Given the description of an element on the screen output the (x, y) to click on. 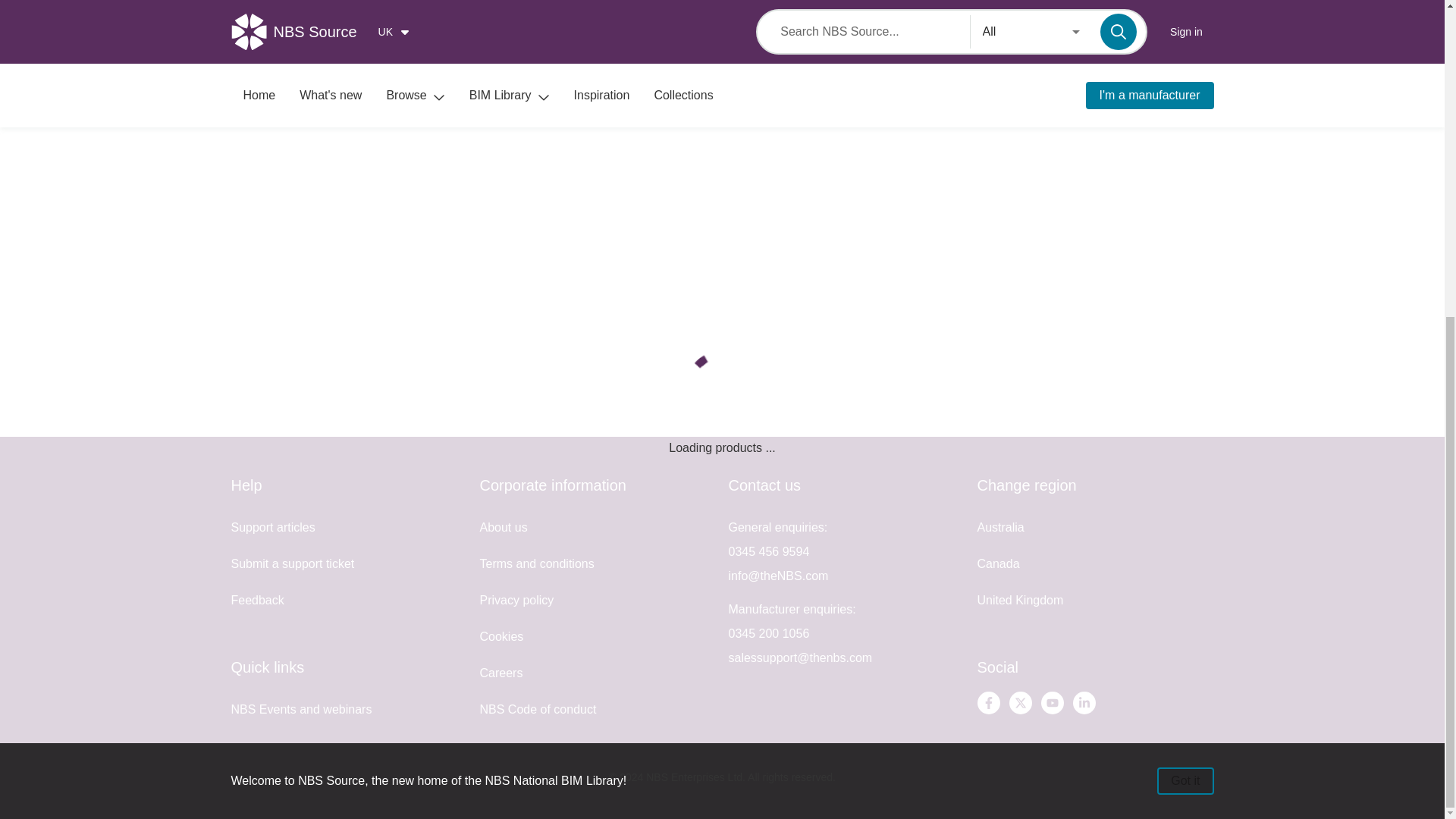
Submit a support ticket (291, 563)
About us (503, 526)
Support articles (272, 526)
NBS Events and webinars (300, 708)
Feedback (256, 599)
